Given the description of an element on the screen output the (x, y) to click on. 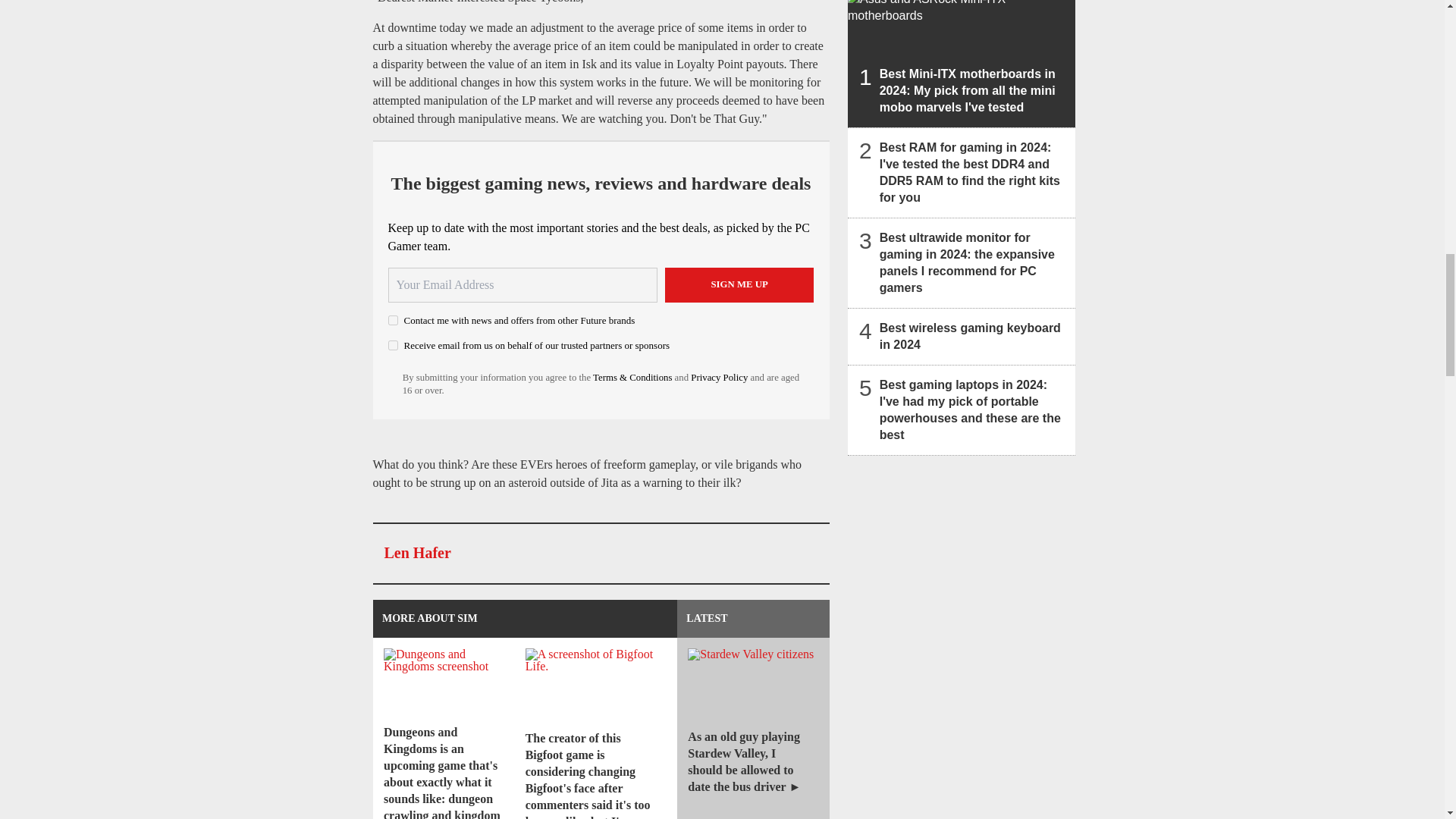
Sign me up (739, 284)
on (392, 345)
on (392, 320)
